Given the description of an element on the screen output the (x, y) to click on. 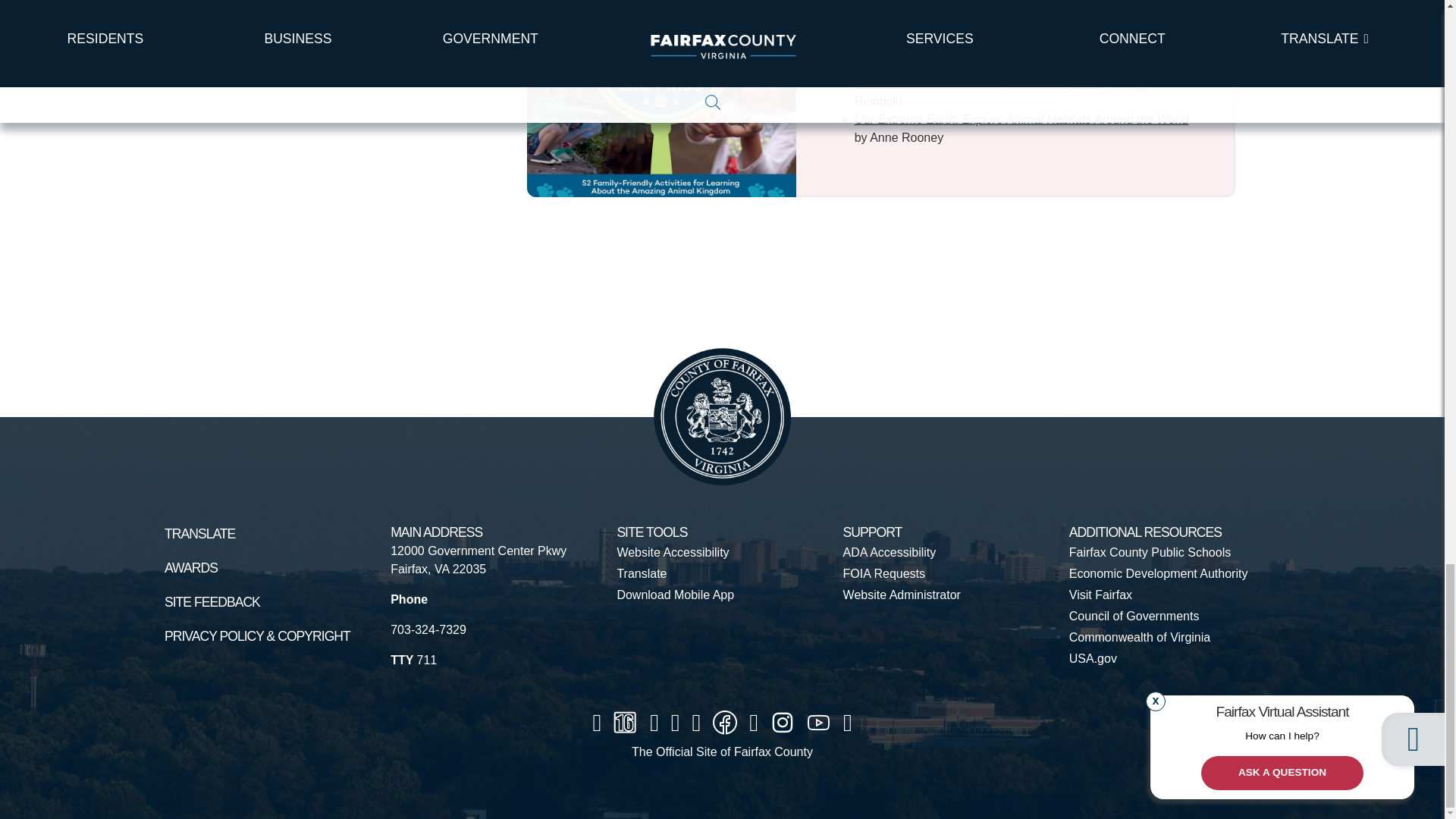
Our Extreme Earth: Explore Animal Habitats Around the World (1021, 119)
